Given the description of an element on the screen output the (x, y) to click on. 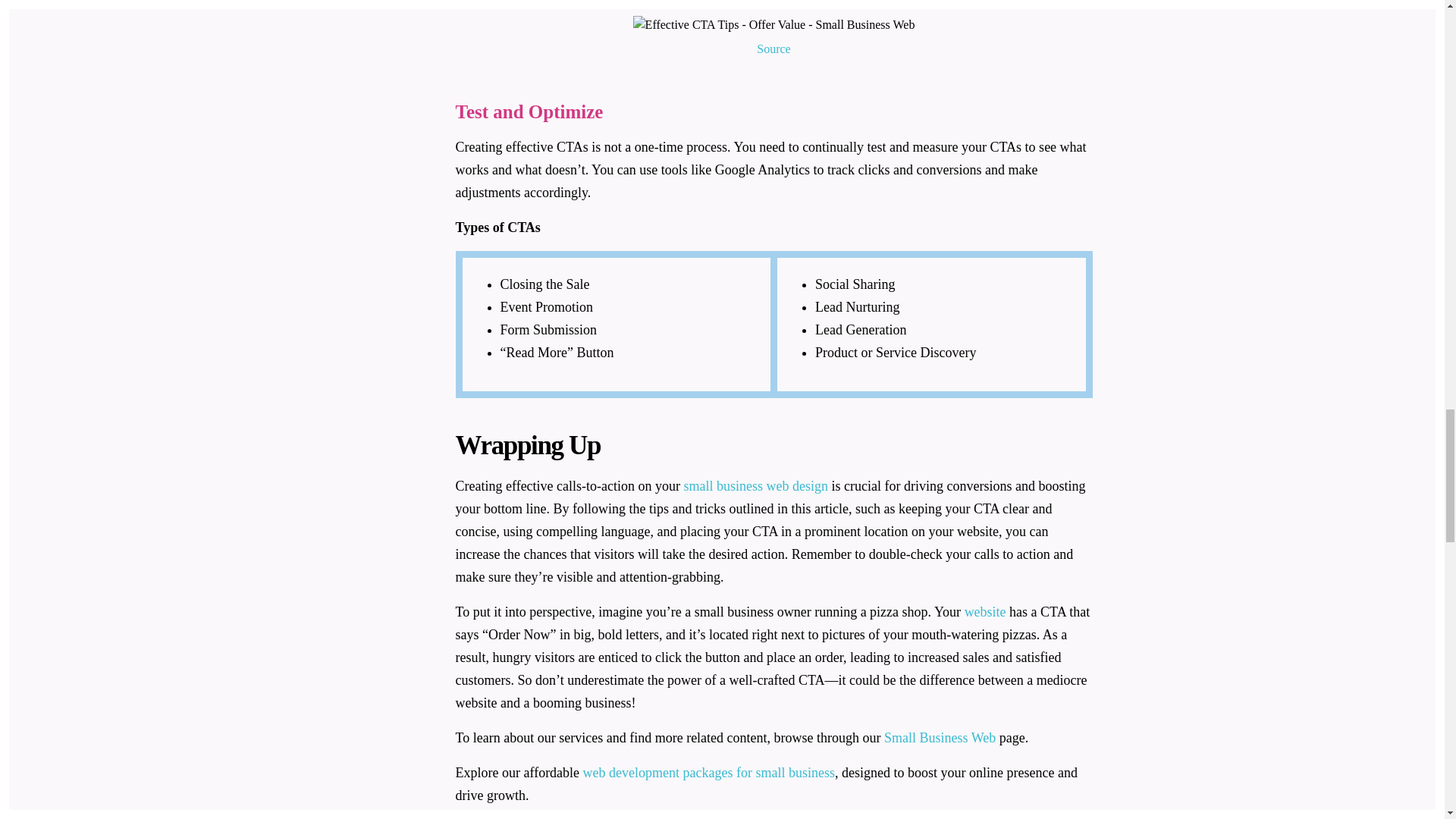
website (984, 611)
web development packages for small business (708, 772)
Small Business Web (939, 737)
Source (773, 49)
small business web design (756, 486)
